Given the description of an element on the screen output the (x, y) to click on. 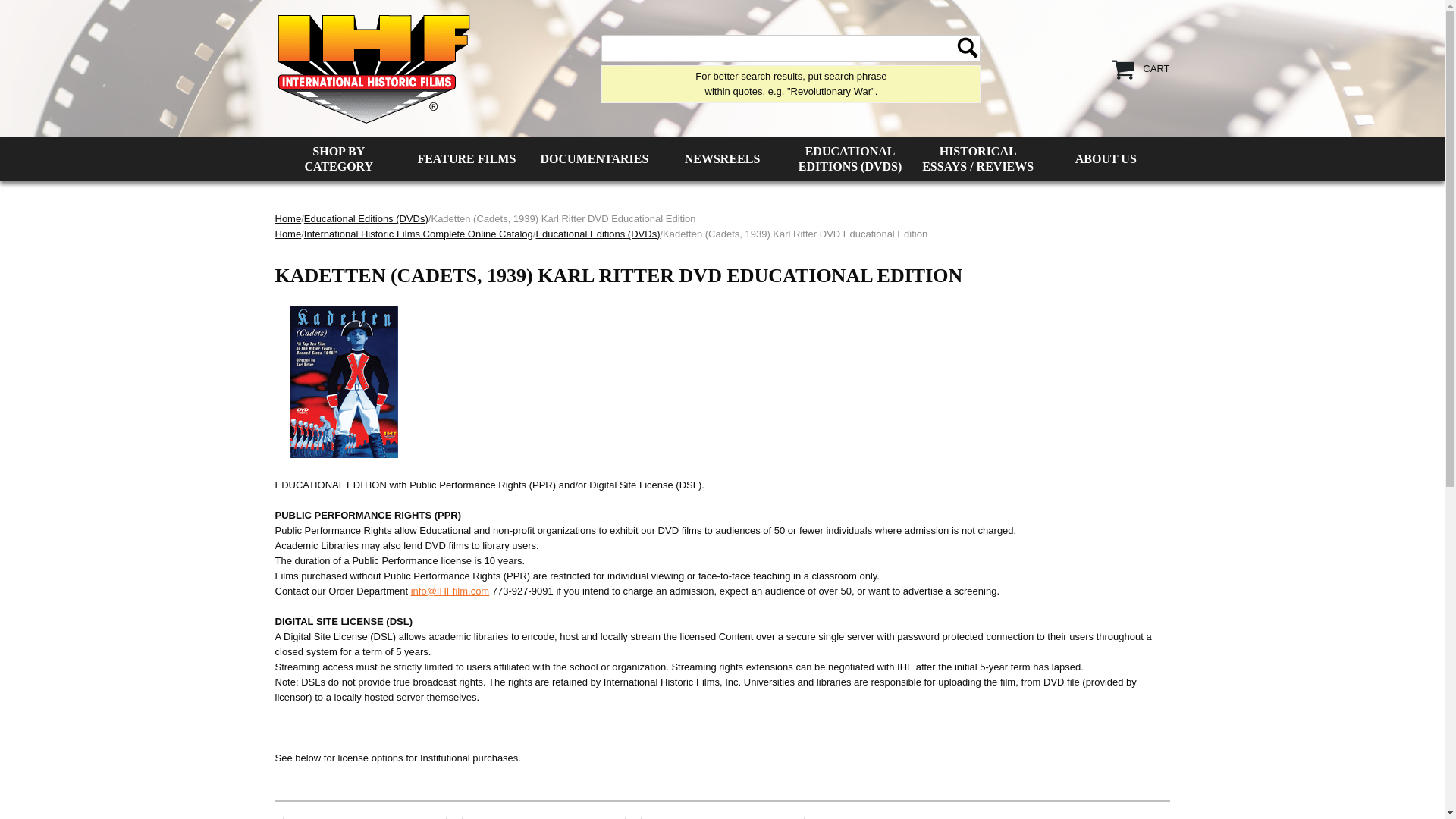
FEATURE FILMS (467, 158)
Search (967, 46)
SHOP BY CATEGORY (339, 158)
Search (967, 46)
CART (1155, 68)
